Given the description of an element on the screen output the (x, y) to click on. 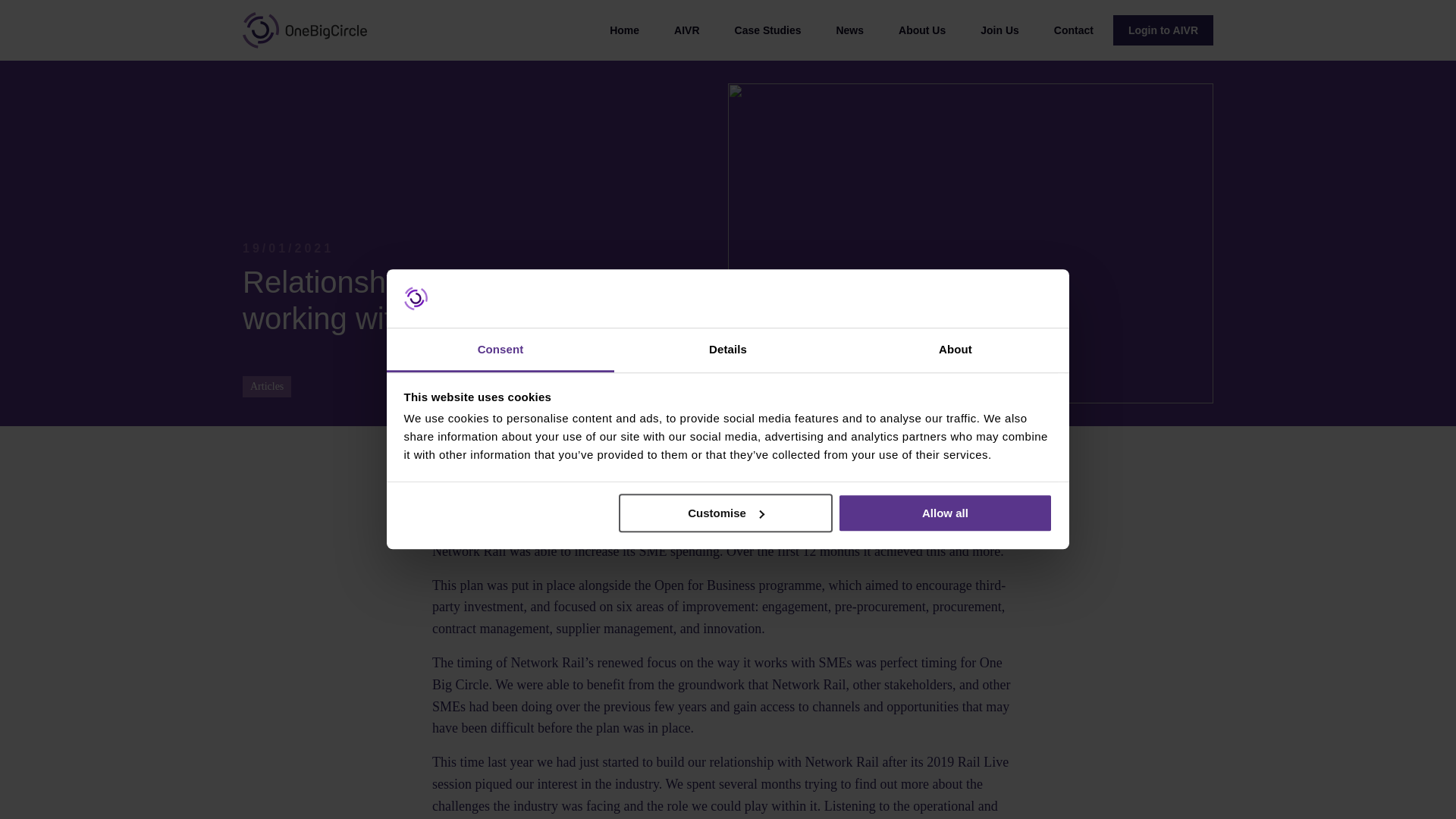
Details (727, 350)
One Big Circle (304, 30)
Consent (500, 350)
About (954, 350)
